Given the description of an element on the screen output the (x, y) to click on. 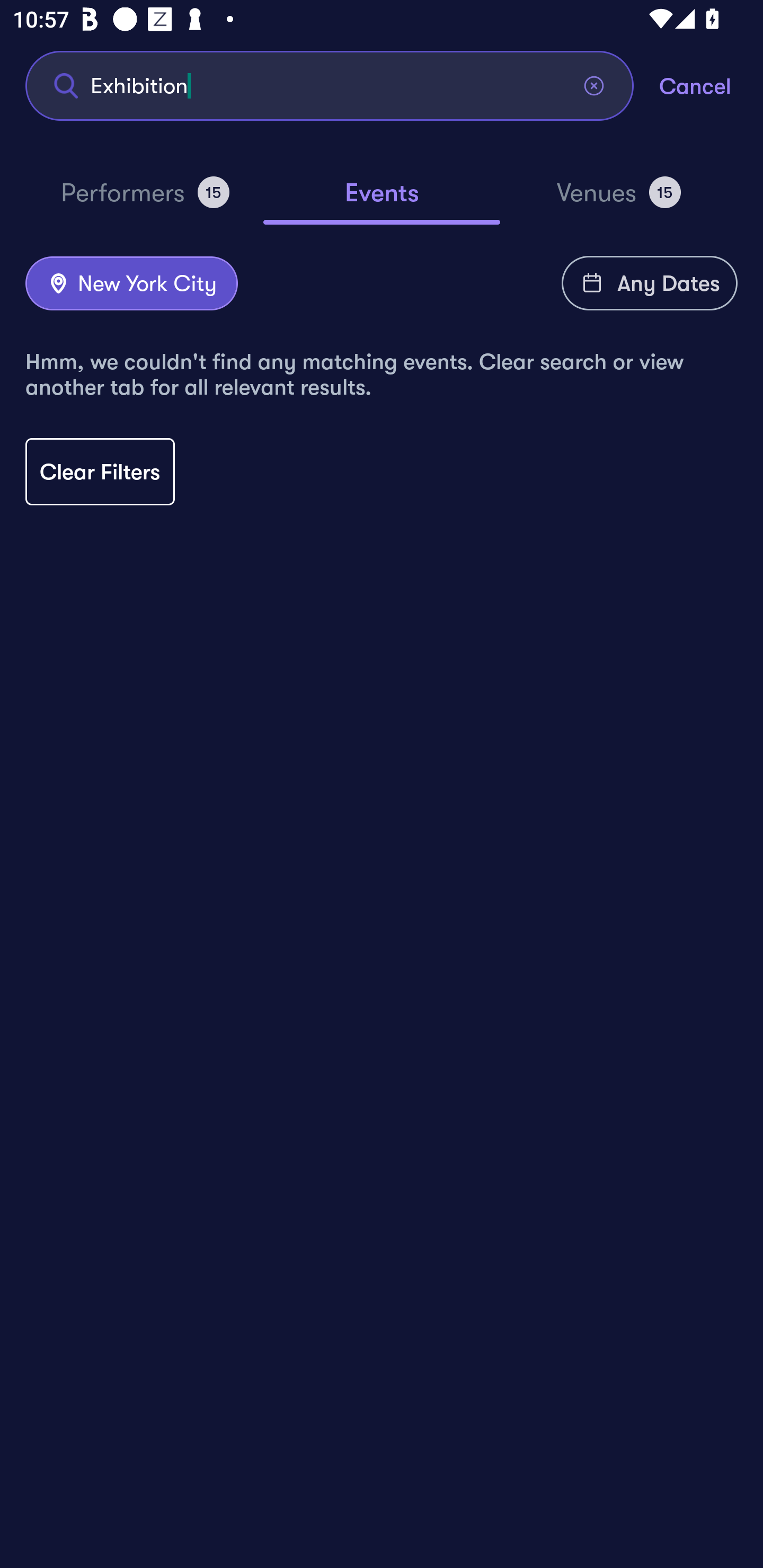
Cancel (711, 85)
Exhibition Find (329, 85)
Exhibition Find (329, 85)
Performers 15 (144, 200)
Venues 15 (618, 200)
Events (381, 201)
Any Dates (649, 282)
New York City (131, 283)
Clear Filters (99, 470)
